Given the description of an element on the screen output the (x, y) to click on. 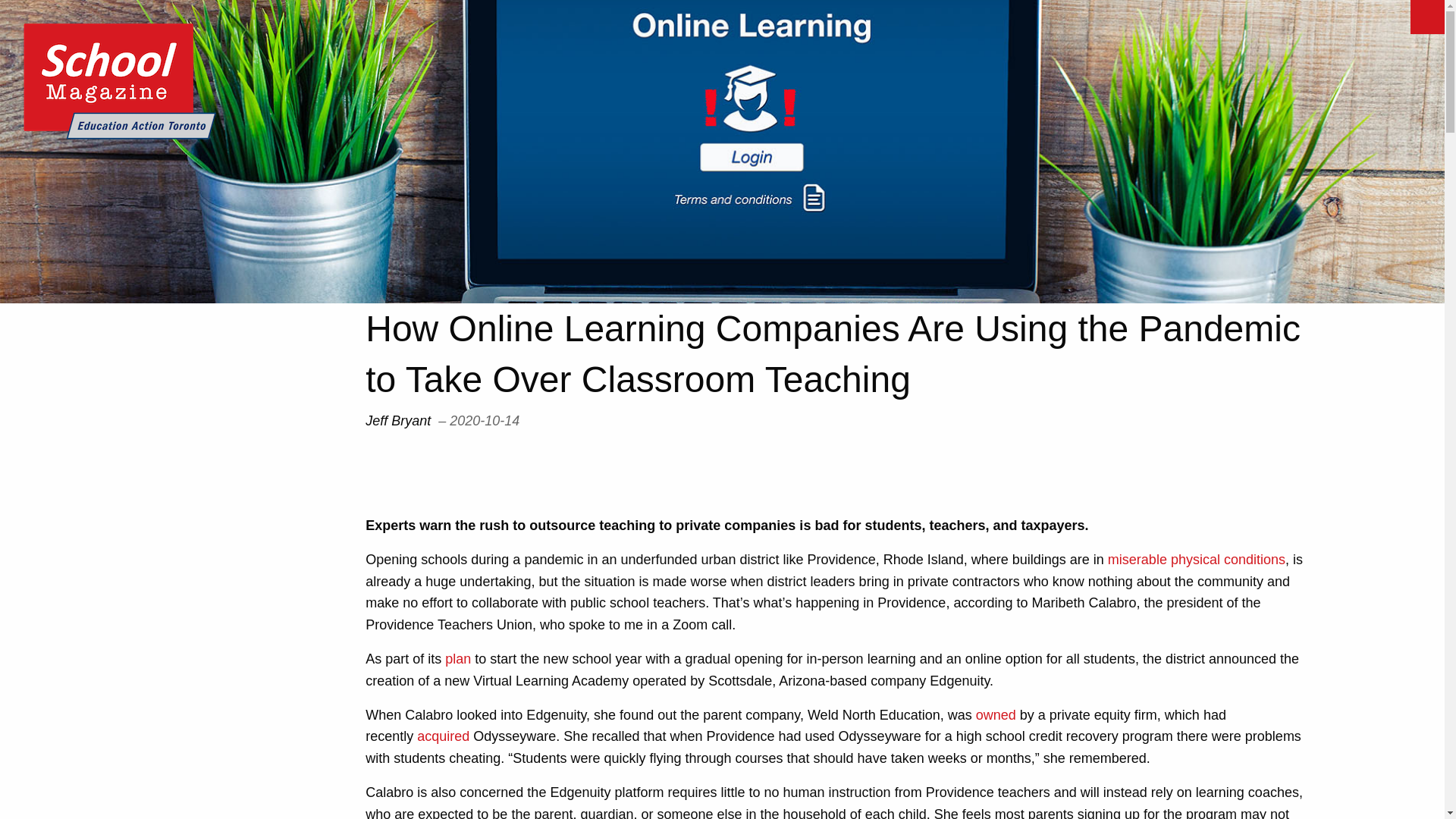
plan (457, 658)
acquired (442, 735)
miserable physical conditions (1196, 559)
owned (995, 714)
